Given the description of an element on the screen output the (x, y) to click on. 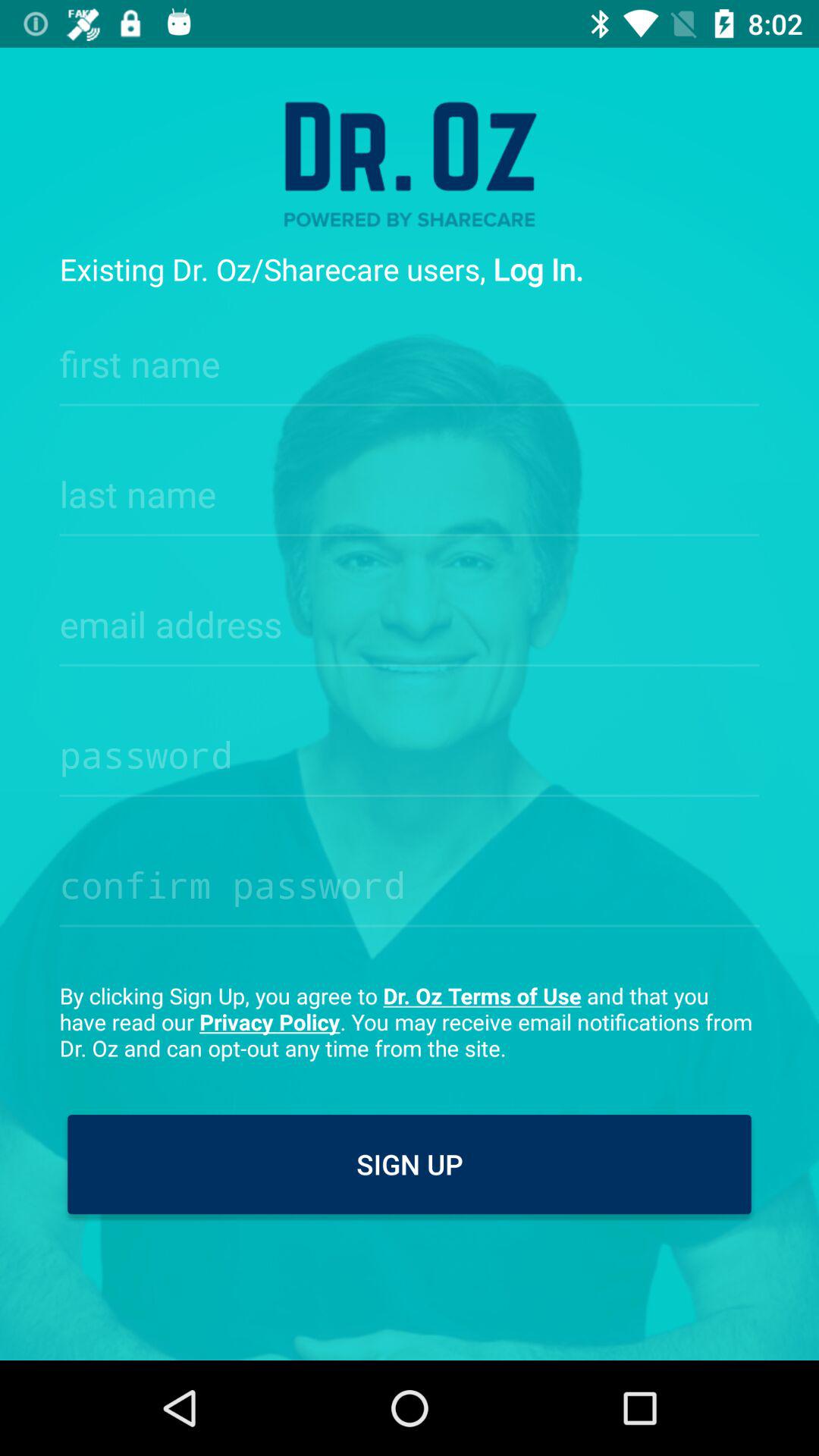
enter email address (409, 620)
